Given the description of an element on the screen output the (x, y) to click on. 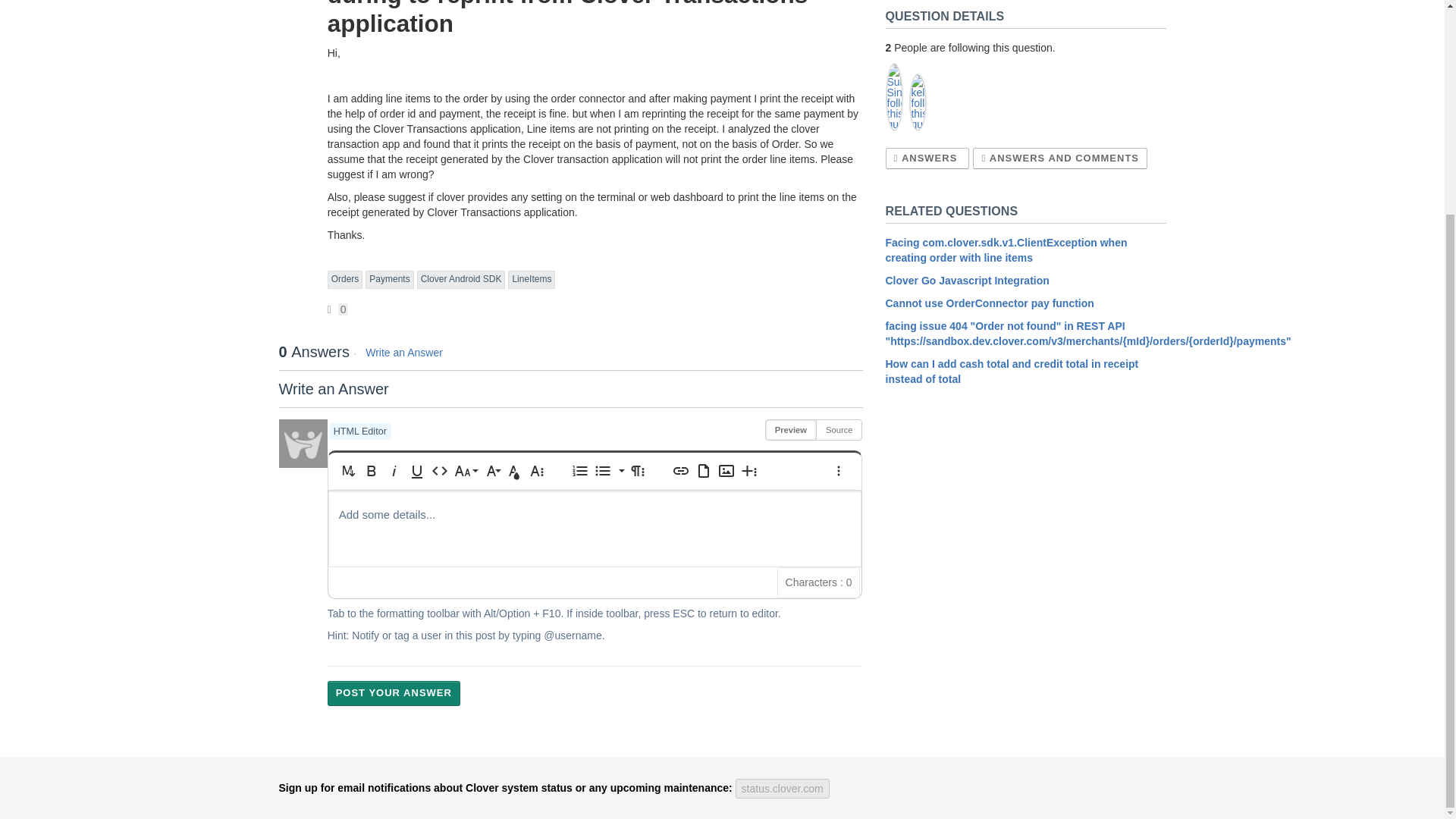
Font Size (465, 470)
Post your Answer (393, 692)
status.clover.com (782, 788)
